Given the description of an element on the screen output the (x, y) to click on. 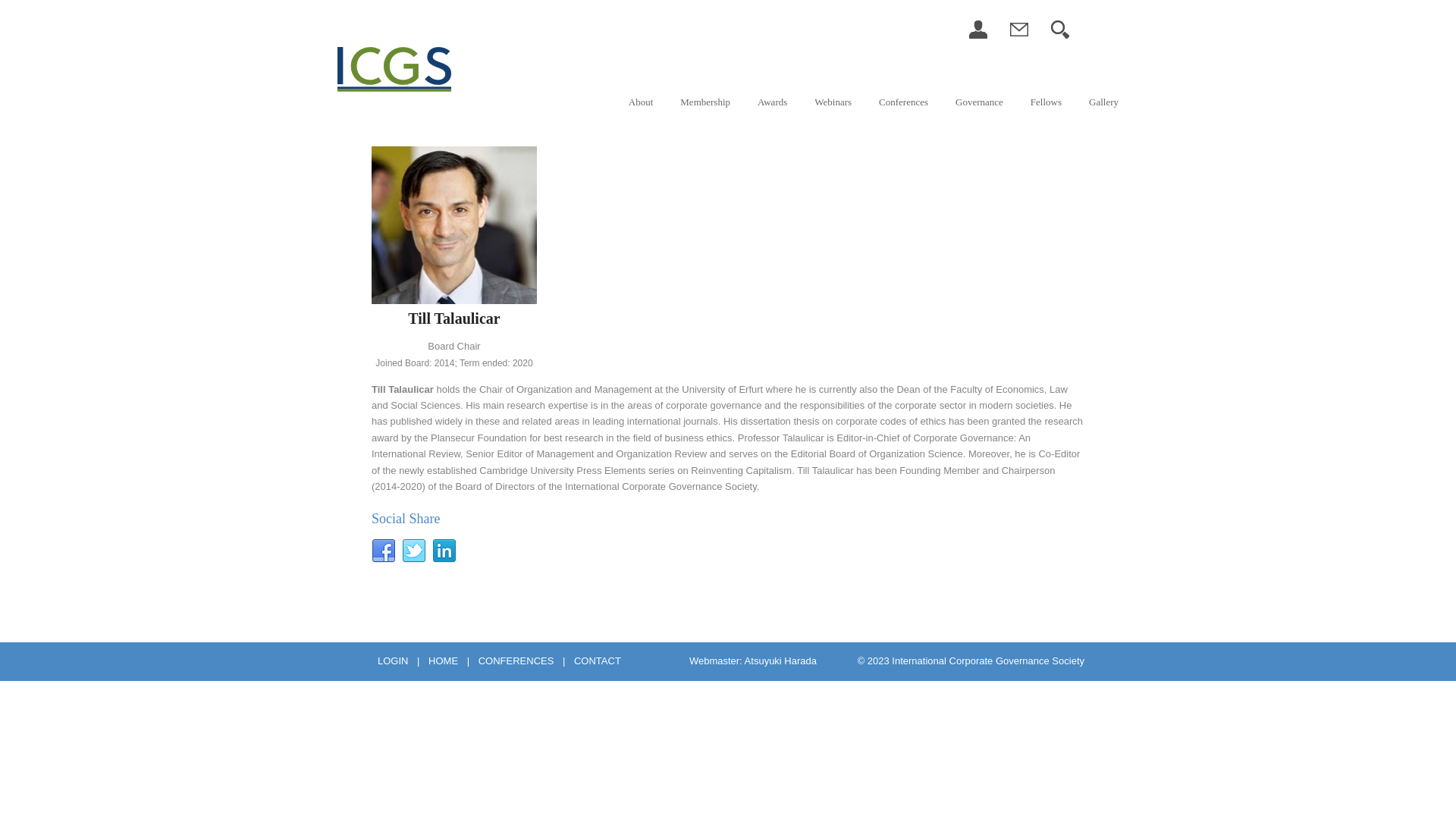
Awards (771, 102)
Fellows (1045, 102)
Conferences (902, 102)
Governance (978, 102)
Webinars (832, 102)
Membership (704, 102)
About (640, 102)
Gallery (1102, 102)
Login (978, 35)
Search (1059, 35)
Contact (1018, 35)
